Given the description of an element on the screen output the (x, y) to click on. 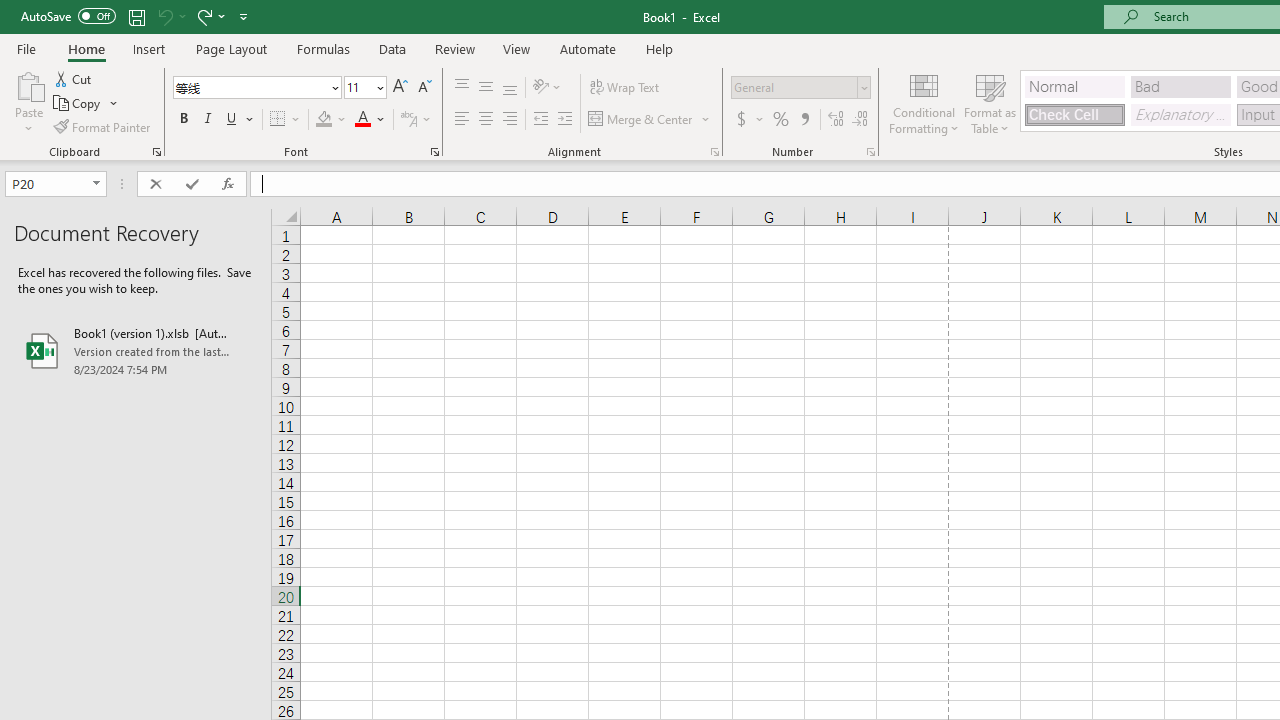
Decrease Font Size (424, 87)
Accounting Number Format (741, 119)
Number Format (794, 87)
Align Right (509, 119)
Bottom Align (509, 87)
Format Cell Number (870, 151)
Align Left (461, 119)
Font Color RGB(255, 0, 0) (362, 119)
Comma Style (804, 119)
Customize Quick Access Toolbar (244, 15)
Normal (1074, 86)
Show Phonetic Field (416, 119)
Show Phonetic Field (408, 119)
